Given the description of an element on the screen output the (x, y) to click on. 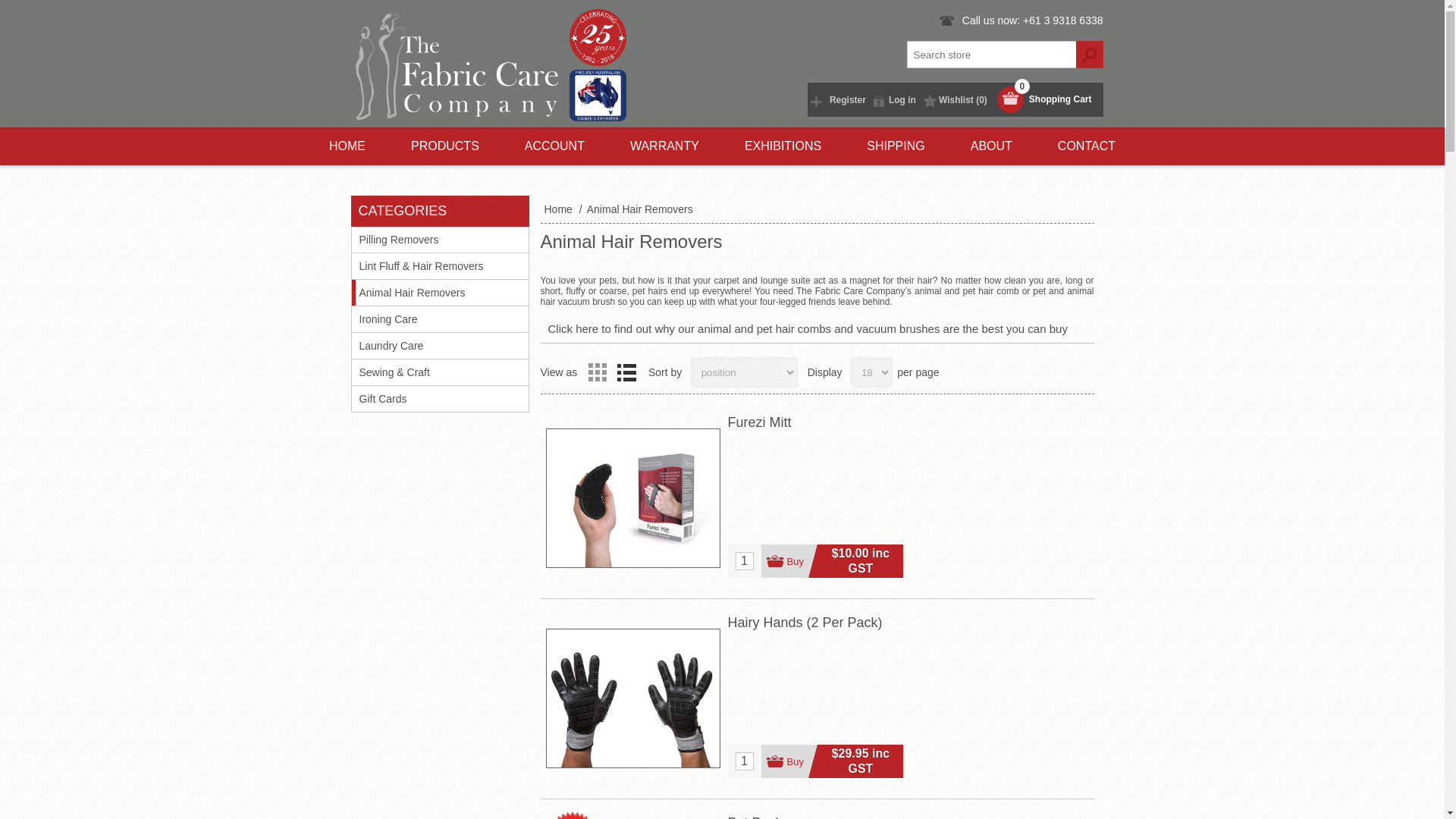
Shipping (895, 146)
Home (559, 209)
Search (1088, 53)
WARRANTY (664, 146)
Buy (788, 561)
Buy (788, 761)
ACCOUNT (554, 146)
Home (346, 146)
Log in (895, 99)
HOME (346, 146)
